Given the description of an element on the screen output the (x, y) to click on. 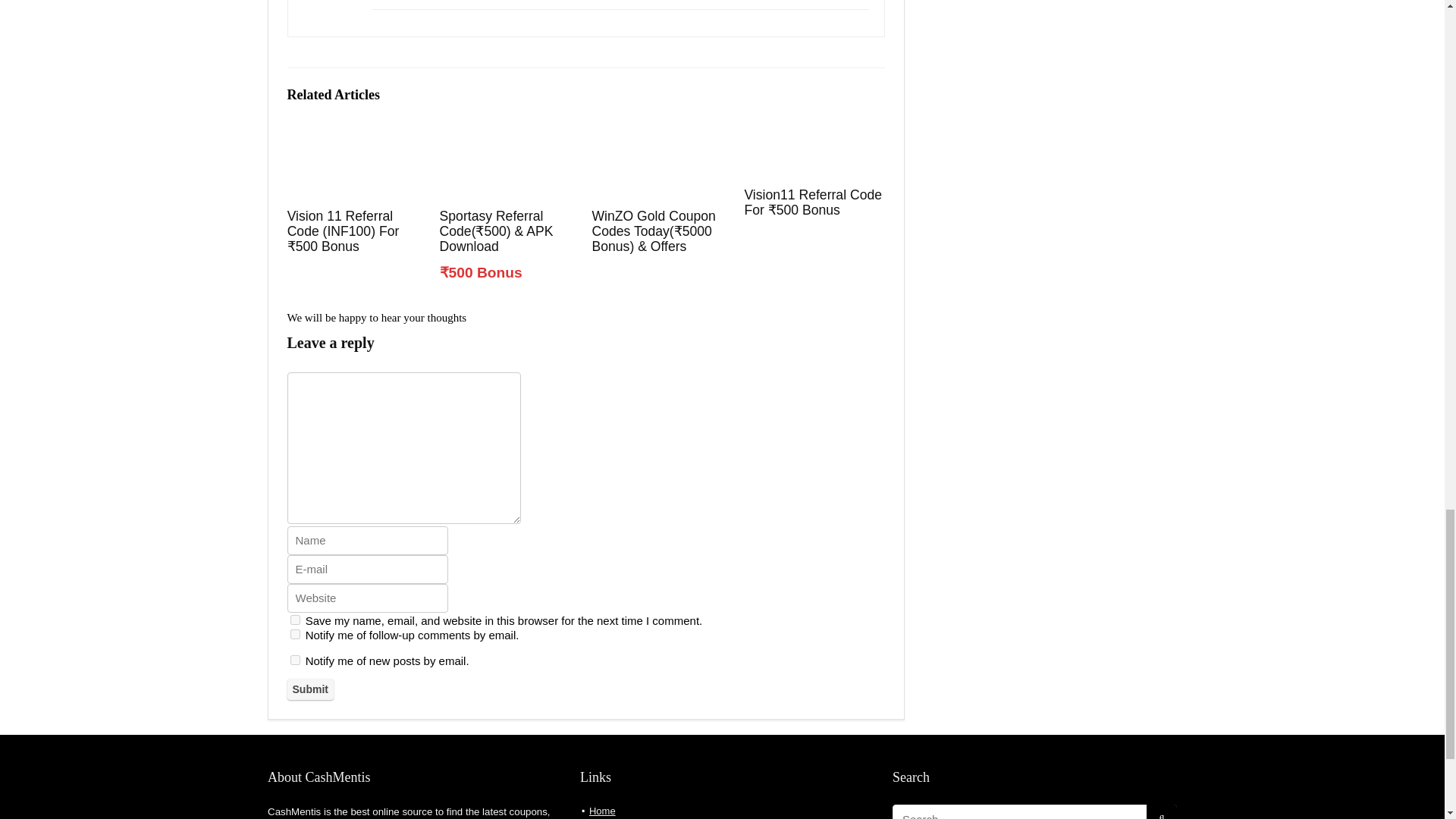
subscribe (294, 660)
subscribe (294, 634)
Submit (309, 689)
yes (294, 619)
Submit (309, 689)
